Given the description of an element on the screen output the (x, y) to click on. 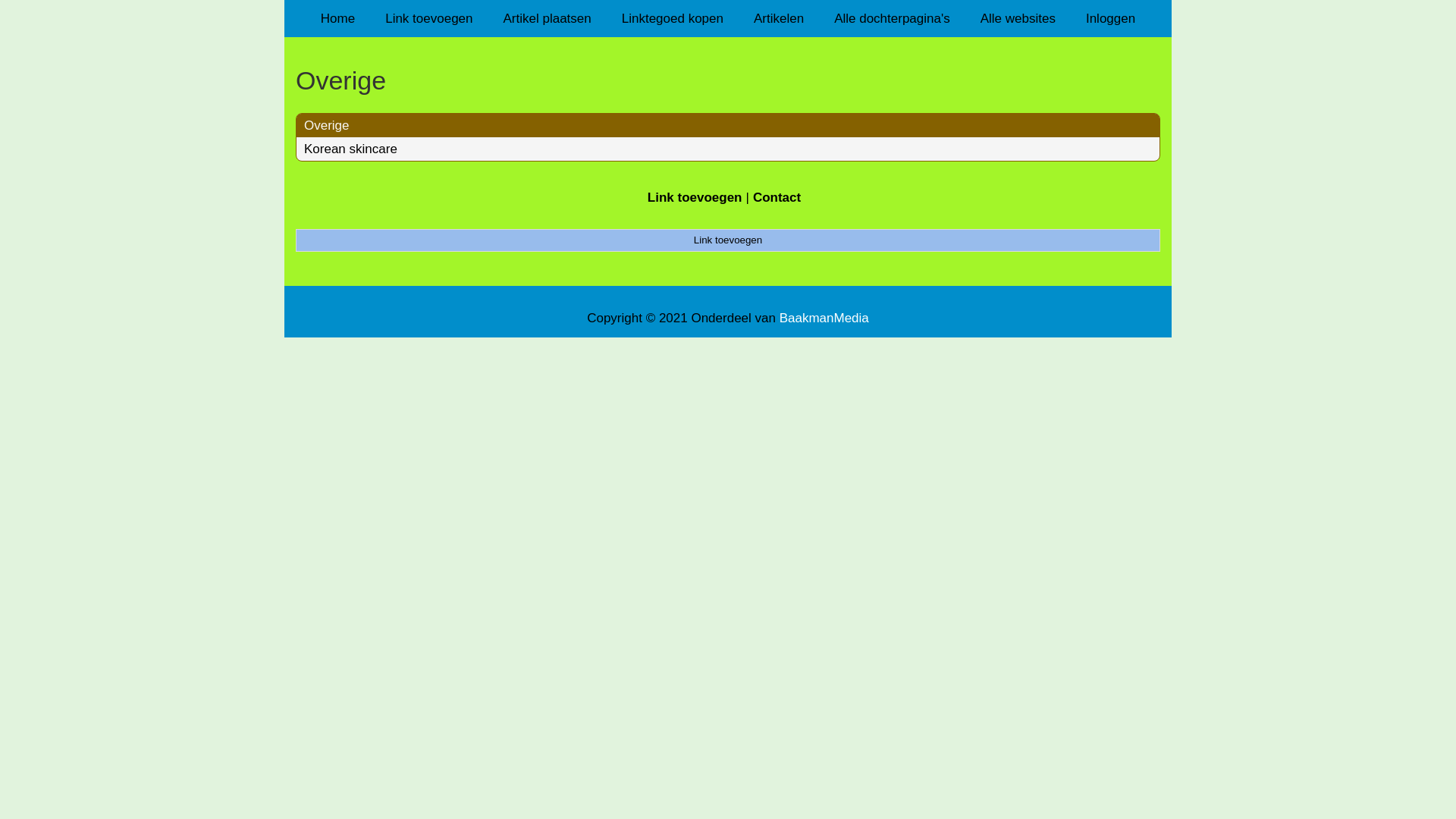
Contact Element type: text (776, 197)
Inloggen Element type: text (1110, 18)
Overige Element type: text (727, 80)
Link toevoegen Element type: text (428, 18)
Alle dochterpagina's Element type: text (892, 18)
Korean skincare Element type: text (350, 148)
Artikel plaatsen Element type: text (547, 18)
Overige Element type: text (326, 125)
Link toevoegen Element type: text (727, 240)
Linktegoed kopen Element type: text (672, 18)
Link toevoegen Element type: text (694, 197)
Alle websites Element type: text (1017, 18)
Home Element type: text (337, 18)
Artikelen Element type: text (778, 18)
BaakmanMedia Element type: text (824, 318)
